Given the description of an element on the screen output the (x, y) to click on. 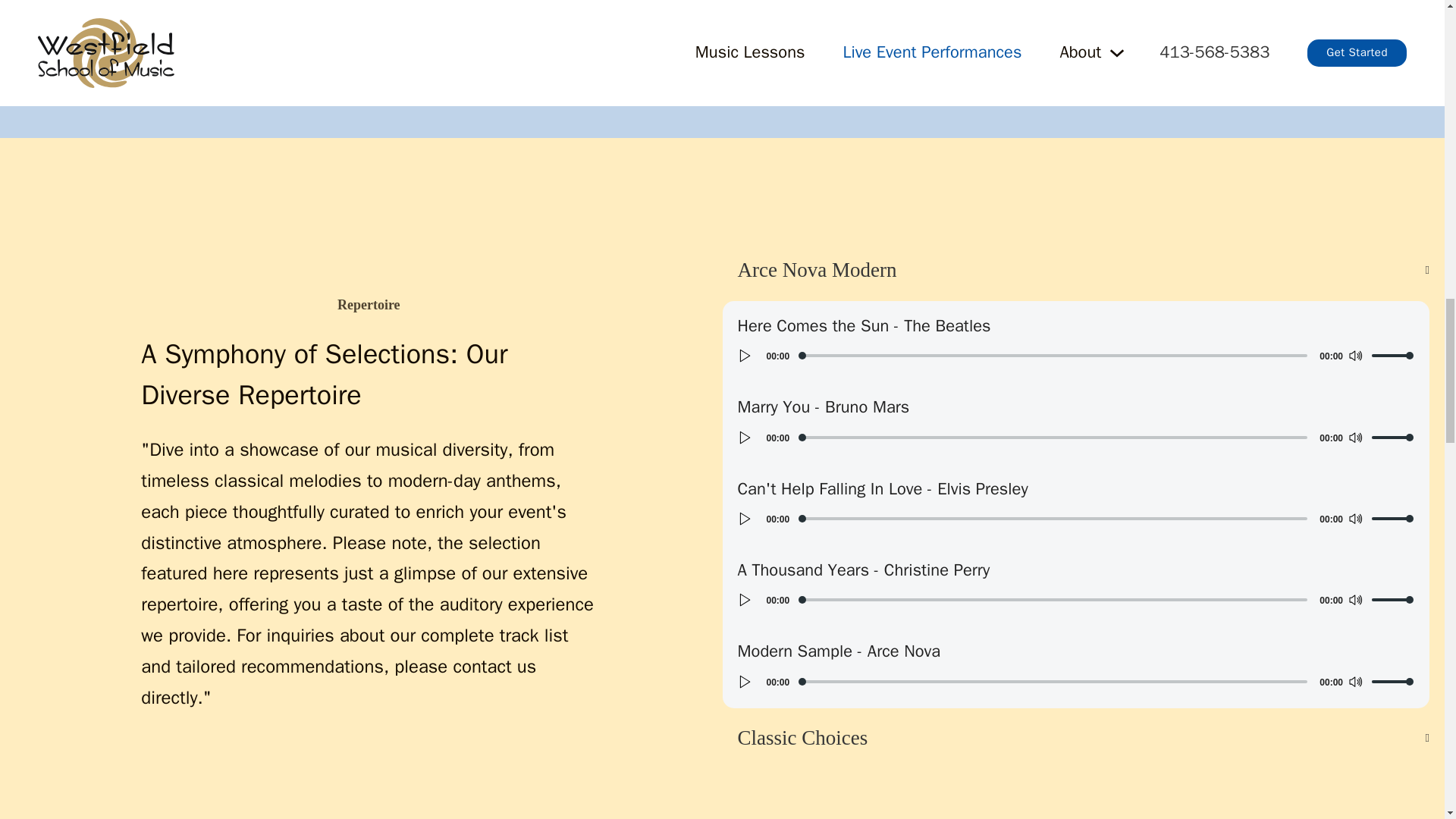
Play (745, 681)
Mute (1355, 518)
Play (745, 518)
Mute (1355, 355)
Mute (1355, 437)
Mute (1355, 681)
Play (745, 437)
Mute (1355, 599)
Play (745, 355)
Play (745, 599)
